Given the description of an element on the screen output the (x, y) to click on. 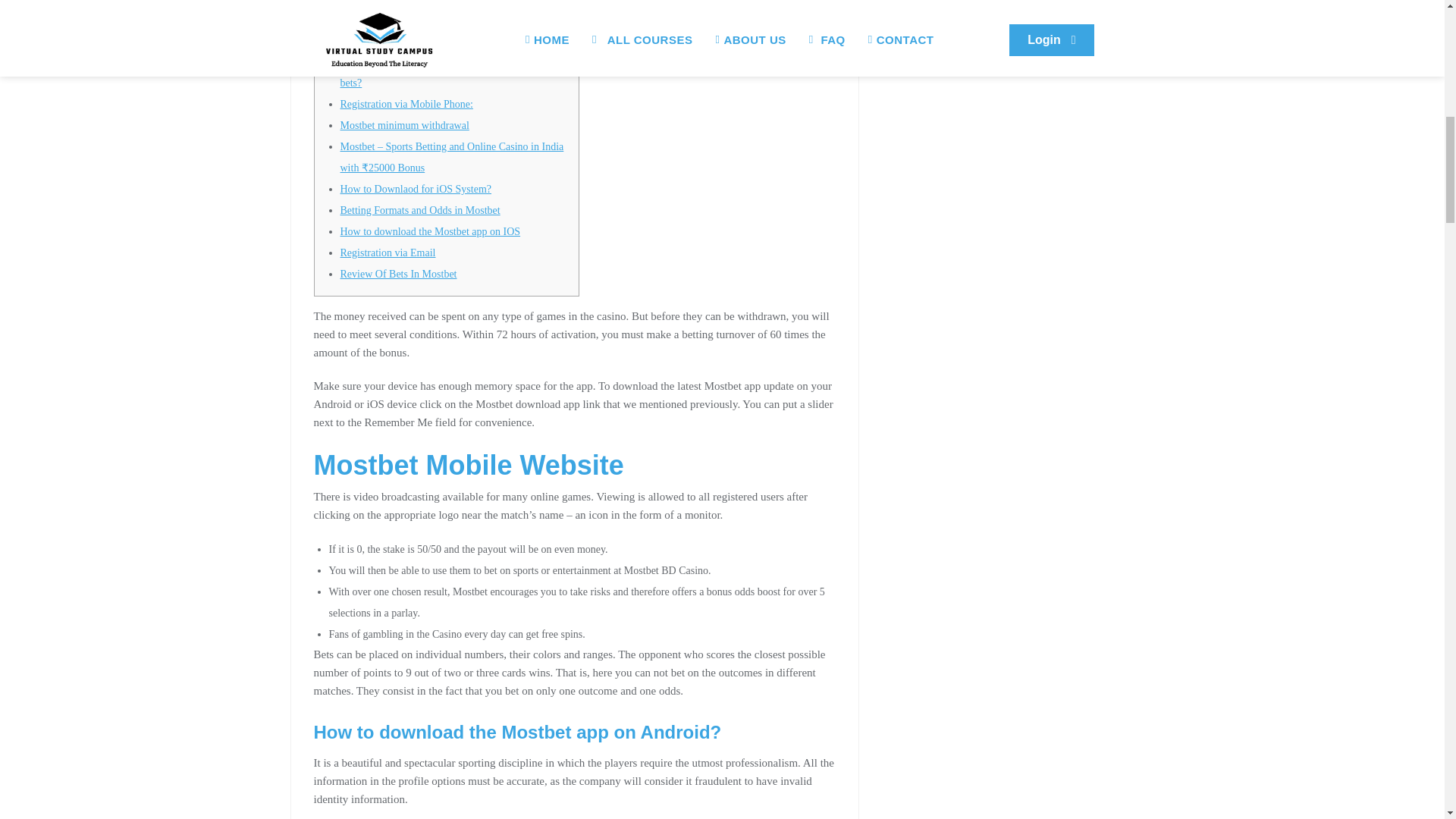
Registration via Mobile Phone: (405, 103)
What is the Mostbet India bookie? (412, 2)
Live Previews (369, 40)
iOS (347, 19)
What is the difference between live and pre-game bets? (444, 72)
